Given the description of an element on the screen output the (x, y) to click on. 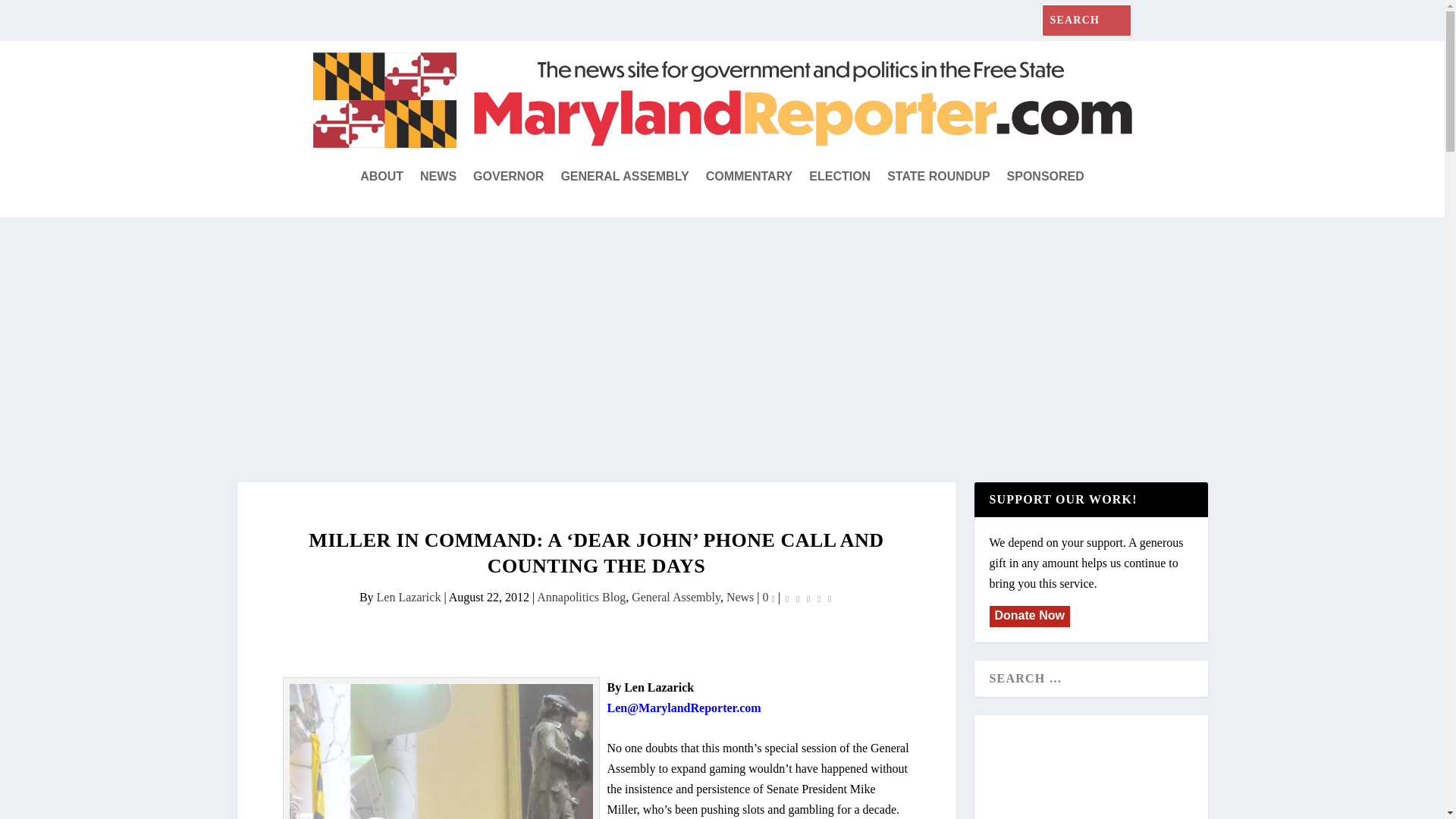
General Assembly (675, 596)
0 (768, 596)
Miller on phone (440, 751)
SPONSORED (1045, 176)
ELECTION (839, 176)
Posts by Len Lazarick (409, 596)
News (740, 596)
GENERAL ASSEMBLY (624, 176)
Annapolitics Blog (581, 596)
Rating: 0.00 (807, 598)
STATE ROUNDUP (938, 176)
GOVERNOR (508, 176)
Len Lazarick (409, 596)
Search (29, 16)
